Given the description of an element on the screen output the (x, y) to click on. 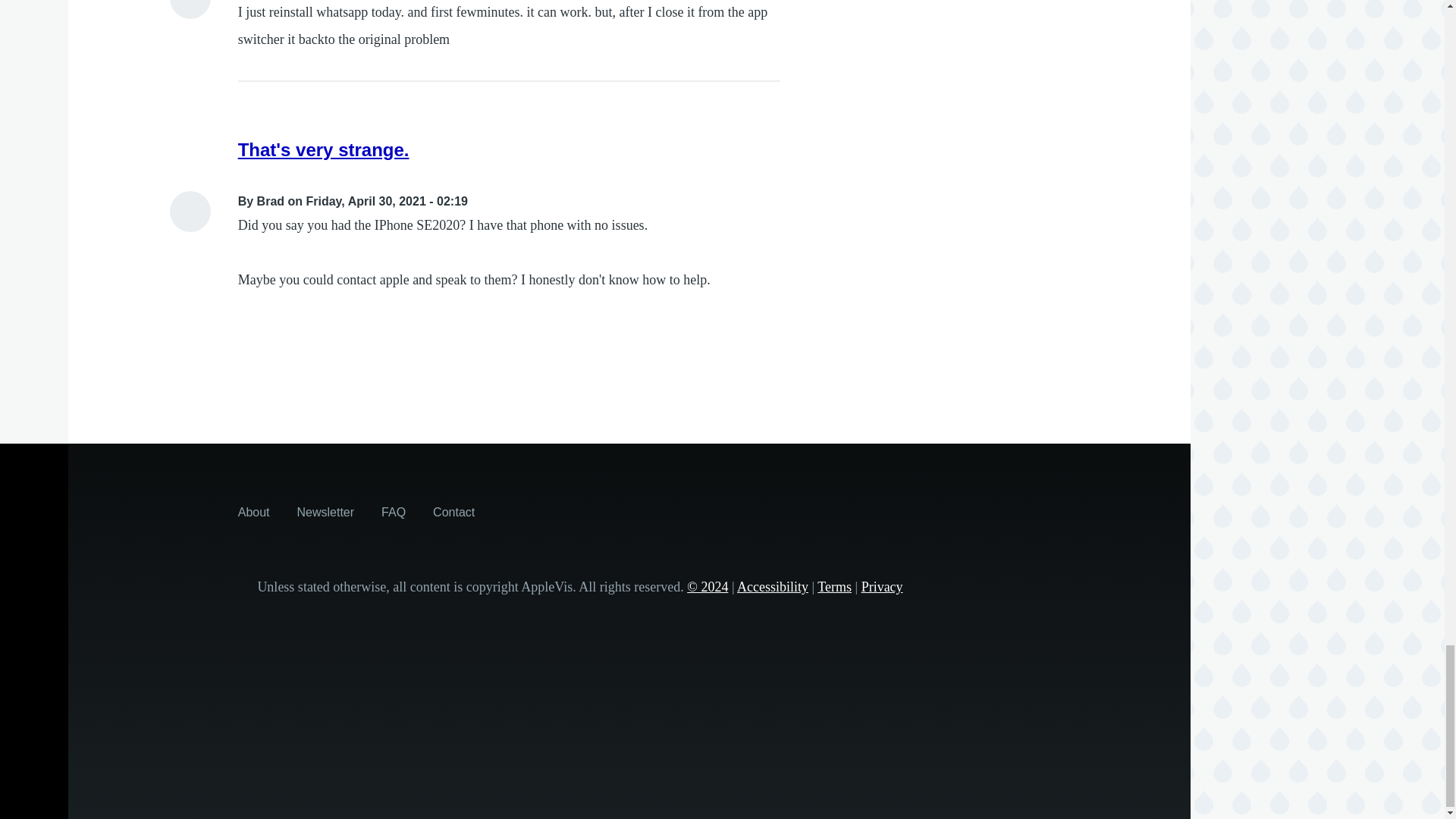
Answers to some frequently asked questions about AppleVis (393, 511)
Newsletters (326, 511)
That's very strange. (323, 149)
About (253, 511)
